Given the description of an element on the screen output the (x, y) to click on. 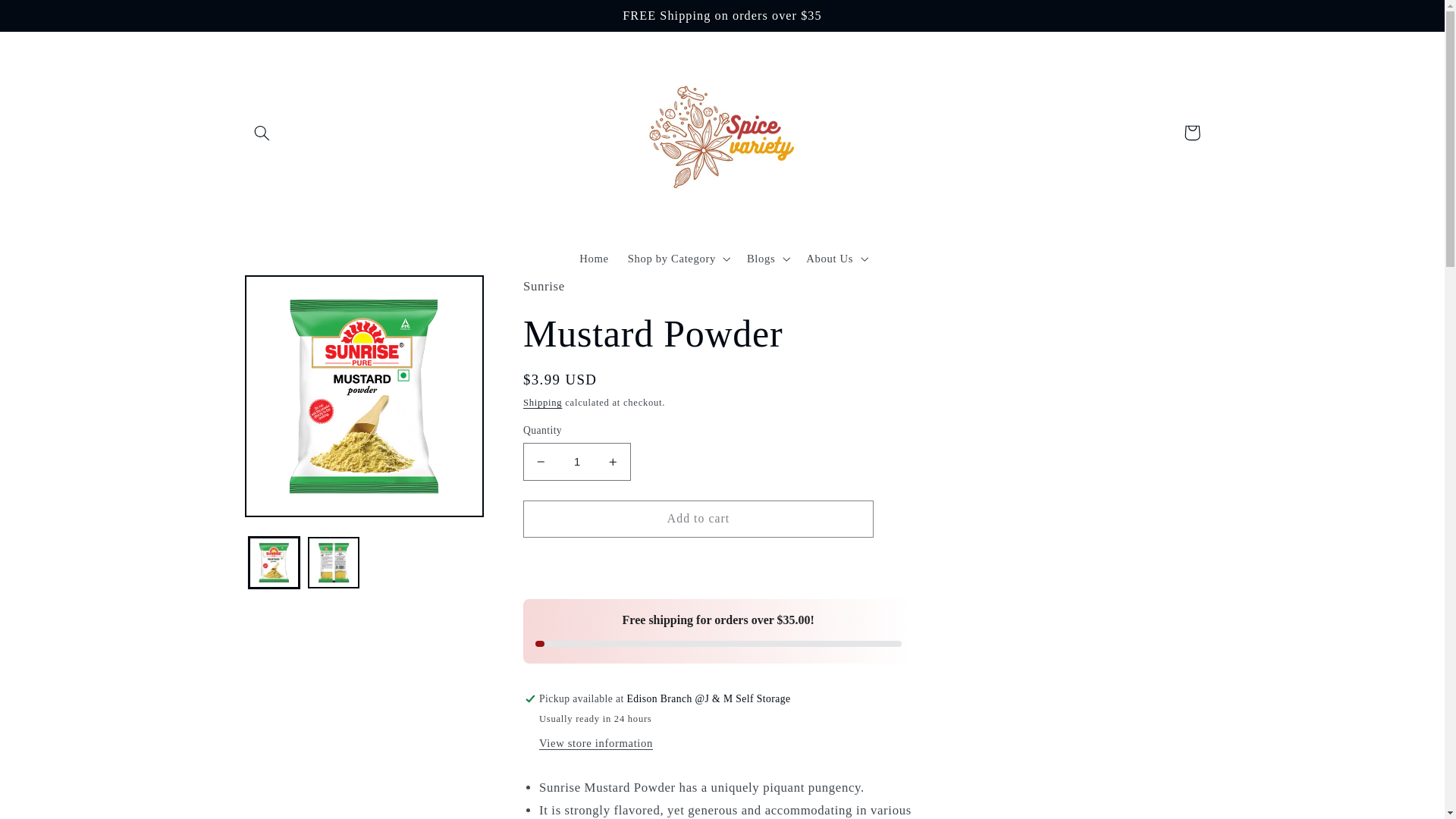
1 (576, 461)
Home (594, 258)
Skip to content (48, 18)
